Given the description of an element on the screen output the (x, y) to click on. 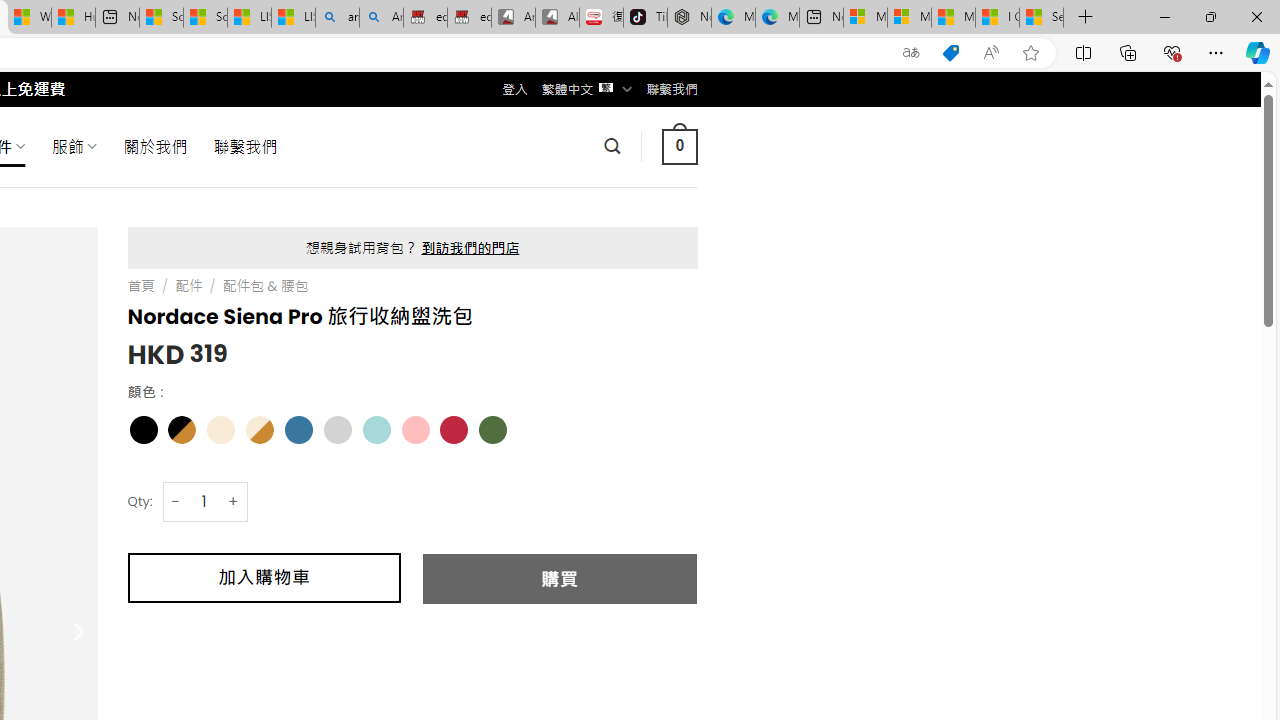
Amazon Echo Dot PNG - Search Images (381, 17)
All Cubot phones (557, 17)
TikTok (644, 17)
  0   (679, 146)
